Given the description of an element on the screen output the (x, y) to click on. 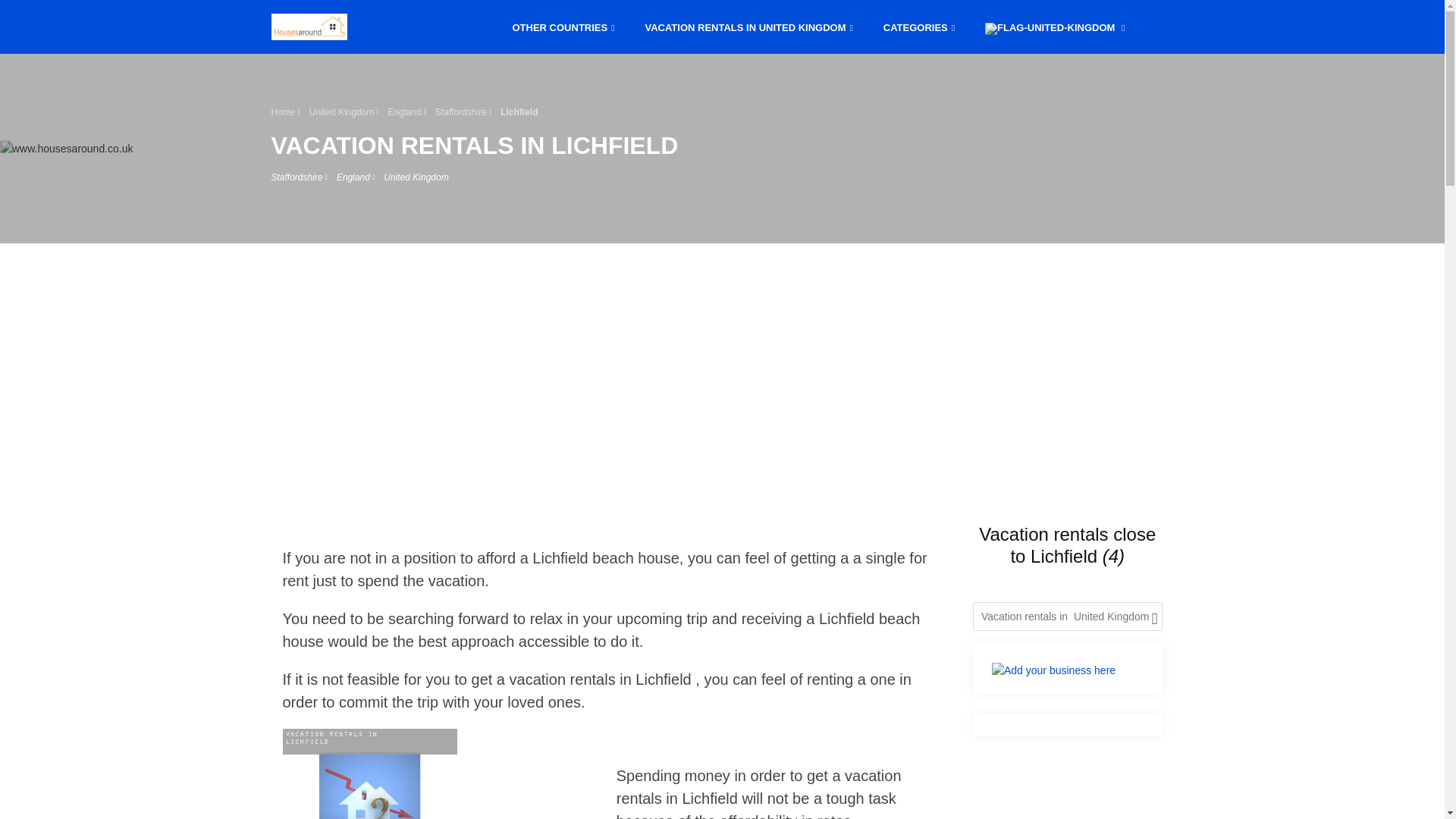
VACATION RENTALS IN UNITED KINGDOM (748, 25)
OTHER COUNTRIES (563, 25)
CATEGORIES (918, 25)
